Given the description of an element on the screen output the (x, y) to click on. 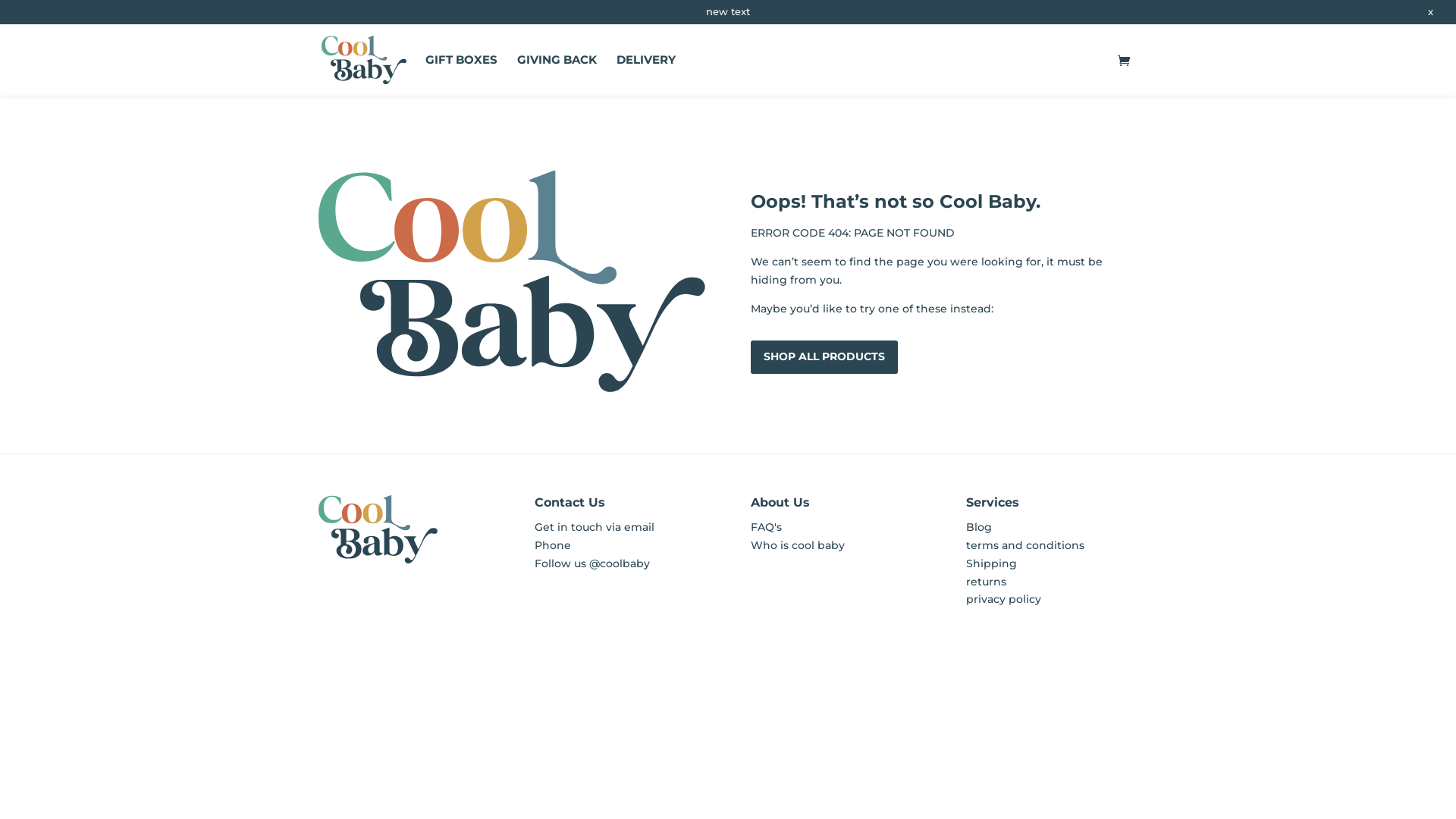
SHOP ALL PRODUCTS Element type: text (823, 356)
GIFT BOXES Element type: text (461, 69)
DELIVERY Element type: text (645, 69)
Who is cool baby Element type: text (797, 545)
FAQ's Element type: text (765, 526)
cool-baby Element type: hover (511, 281)
Get in touch via email Element type: text (594, 526)
x Element type: text (1430, 12)
GIVING BACK Element type: text (556, 69)
Shipping Element type: text (991, 563)
Blog Element type: text (978, 526)
@coolbaby Element type: text (619, 563)
